Given the description of an element on the screen output the (x, y) to click on. 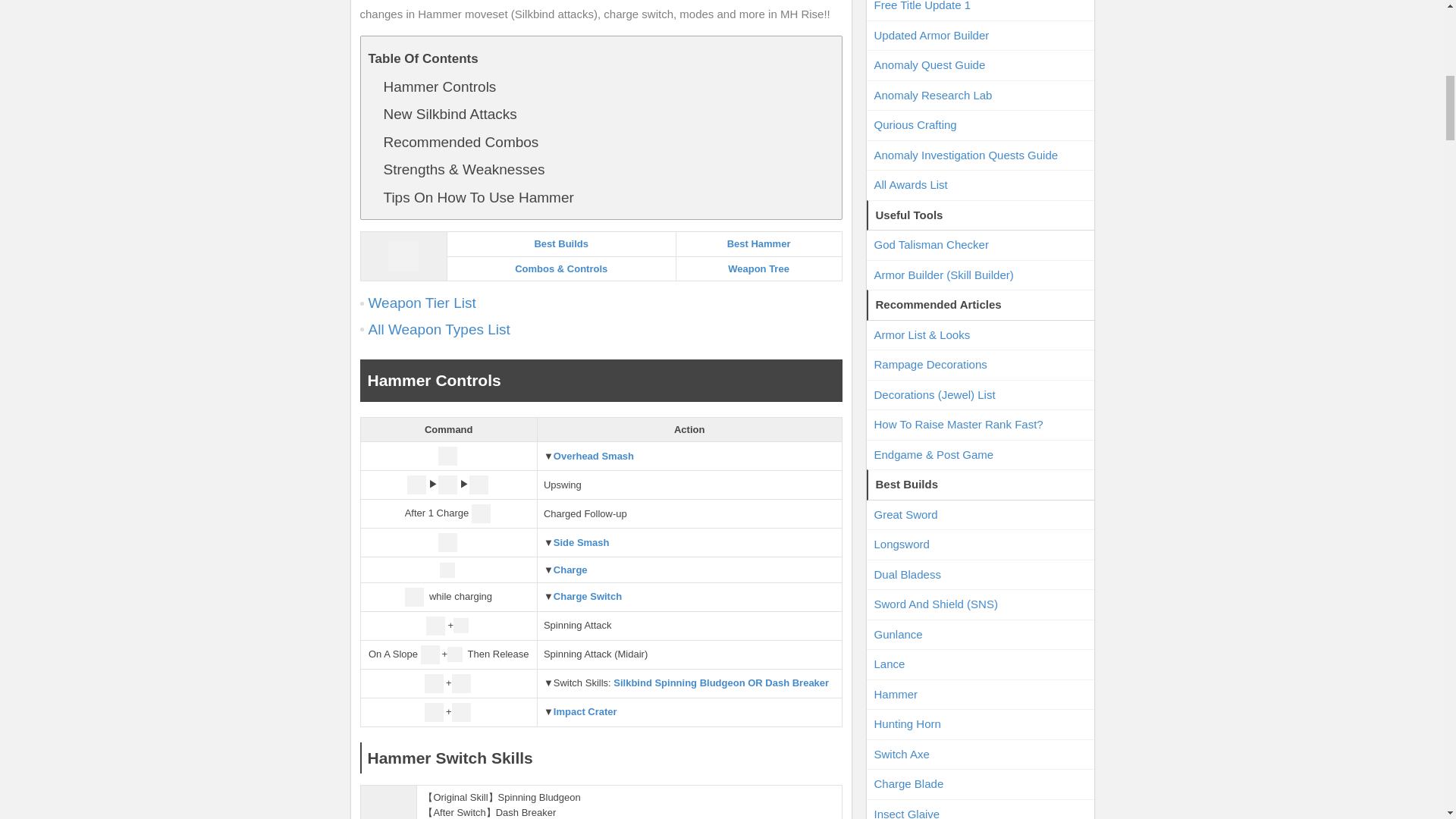
Weapon Tree (758, 267)
Hammer Controls (440, 86)
Weapon Tier List (422, 302)
Side Smash (581, 542)
New Silkbind Attacks (450, 114)
Best Hammer (758, 243)
All Weapon Types List (439, 329)
Best Builds (561, 243)
Overhead Smash (593, 455)
Tips On How To Use Hammer (478, 197)
Recommended Combos (461, 141)
